Given the description of an element on the screen output the (x, y) to click on. 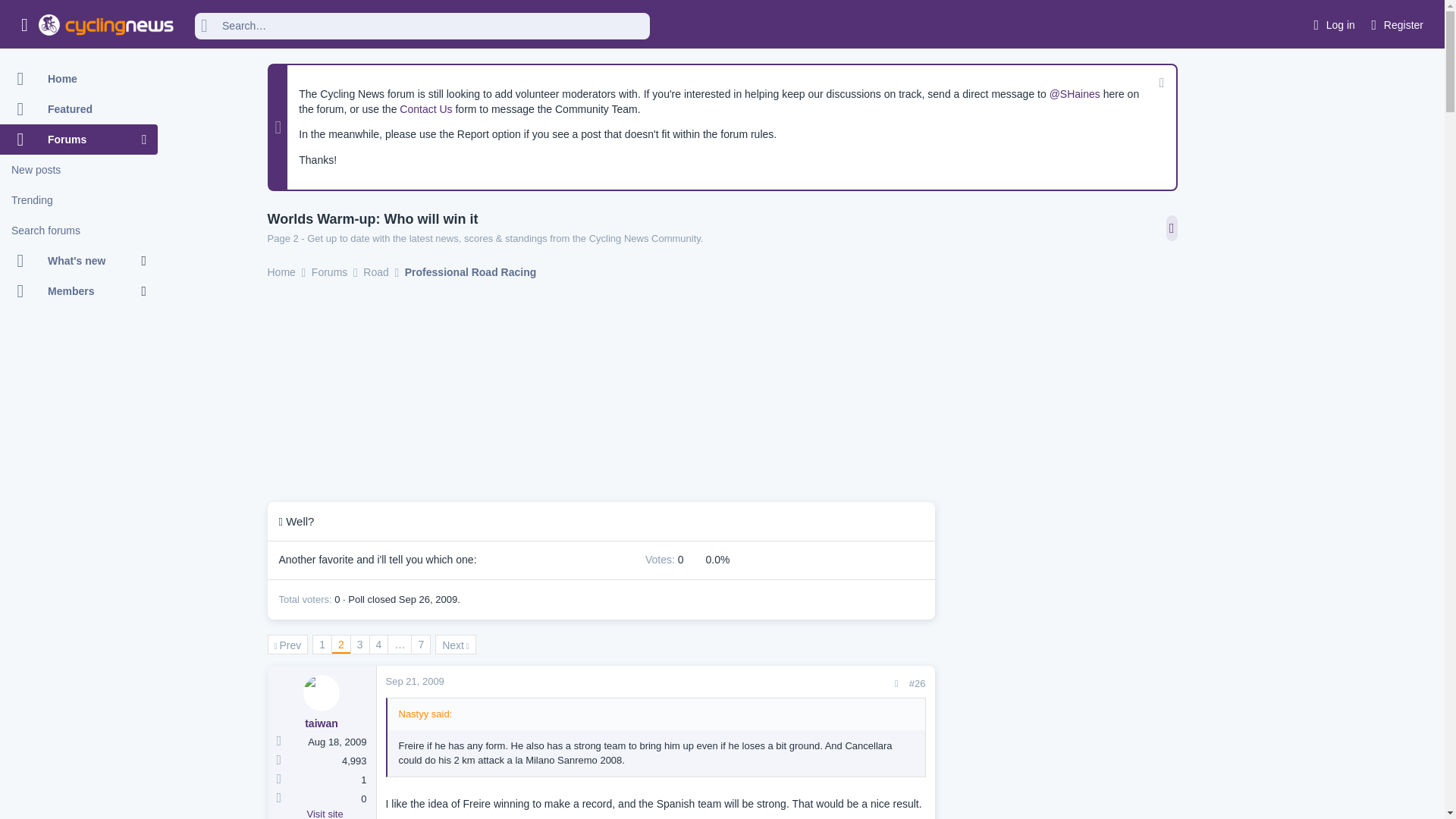
New posts (78, 169)
Register (1395, 24)
Home (78, 78)
Trending (78, 200)
What's new (70, 260)
Featured (78, 109)
Log in (1332, 24)
Forums (70, 139)
Go to page (399, 644)
Search forums (78, 230)
